Given the description of an element on the screen output the (x, y) to click on. 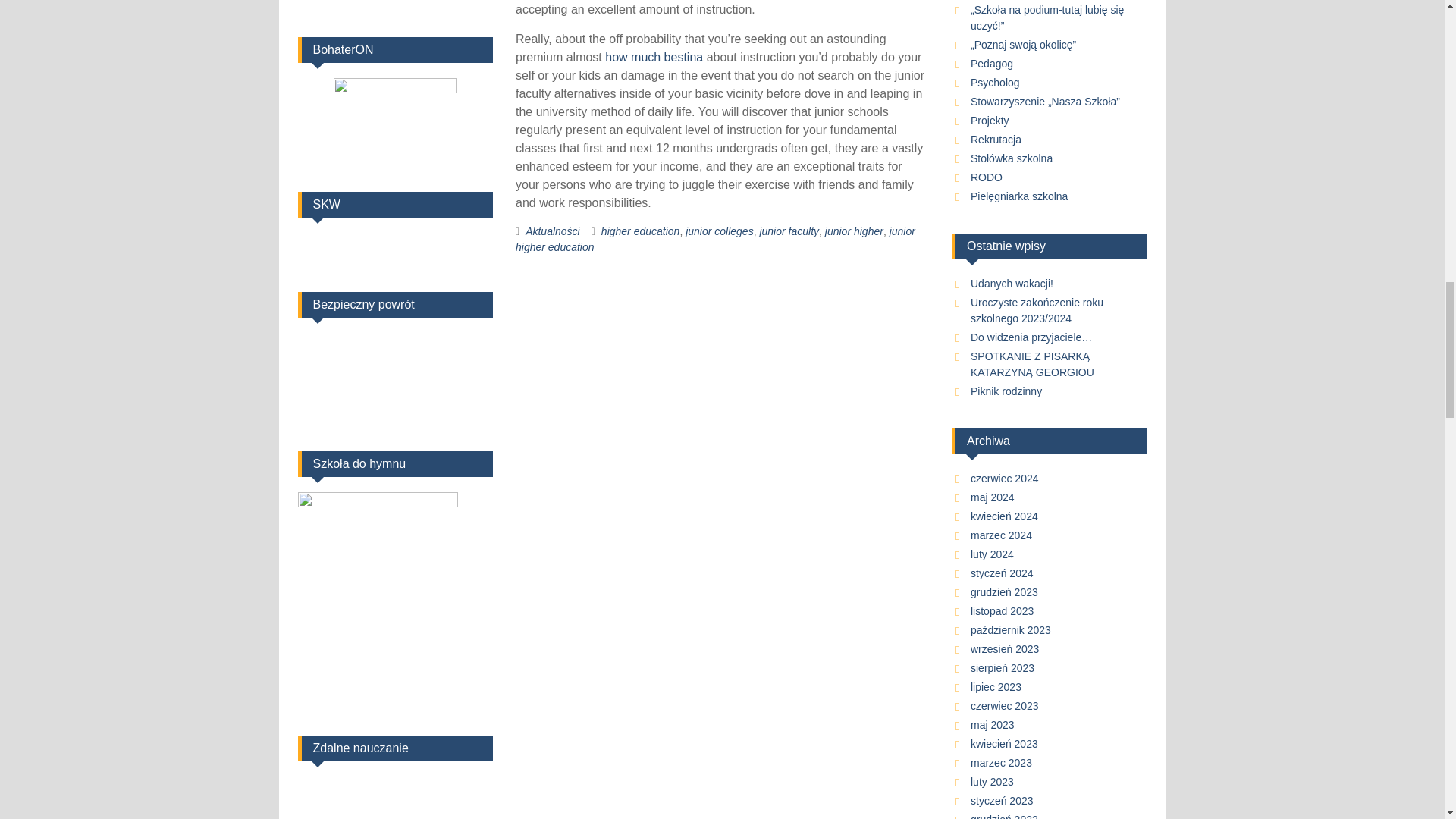
junior faculty (788, 231)
higher education (640, 231)
junior higher education (715, 239)
junior higher (854, 231)
junior colleges (719, 231)
how much bestina (654, 56)
